Given the description of an element on the screen output the (x, y) to click on. 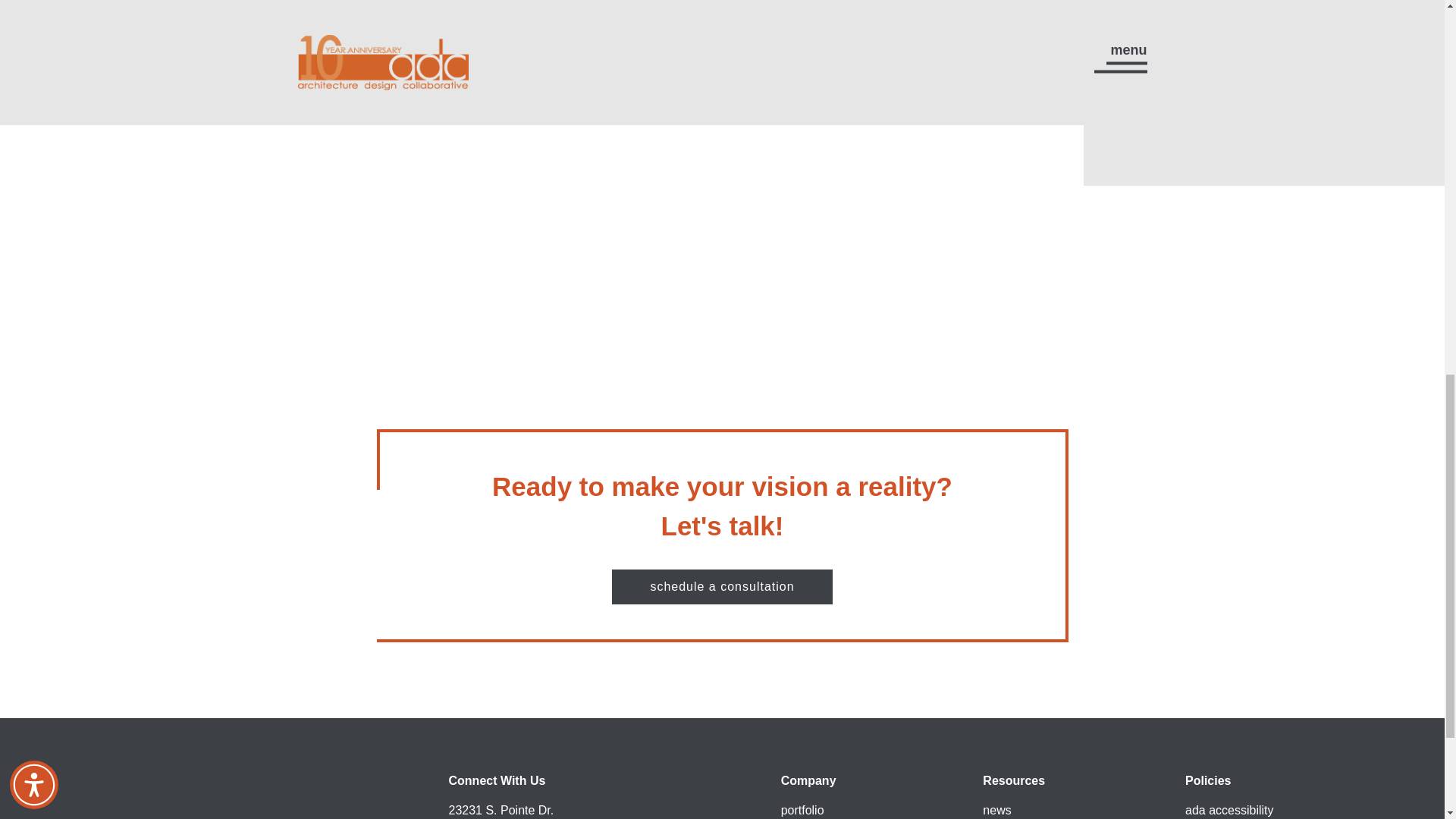
schedule a consultation (721, 586)
news (996, 809)
ada accessibility (1229, 809)
portfolio (802, 809)
